Given the description of an element on the screen output the (x, y) to click on. 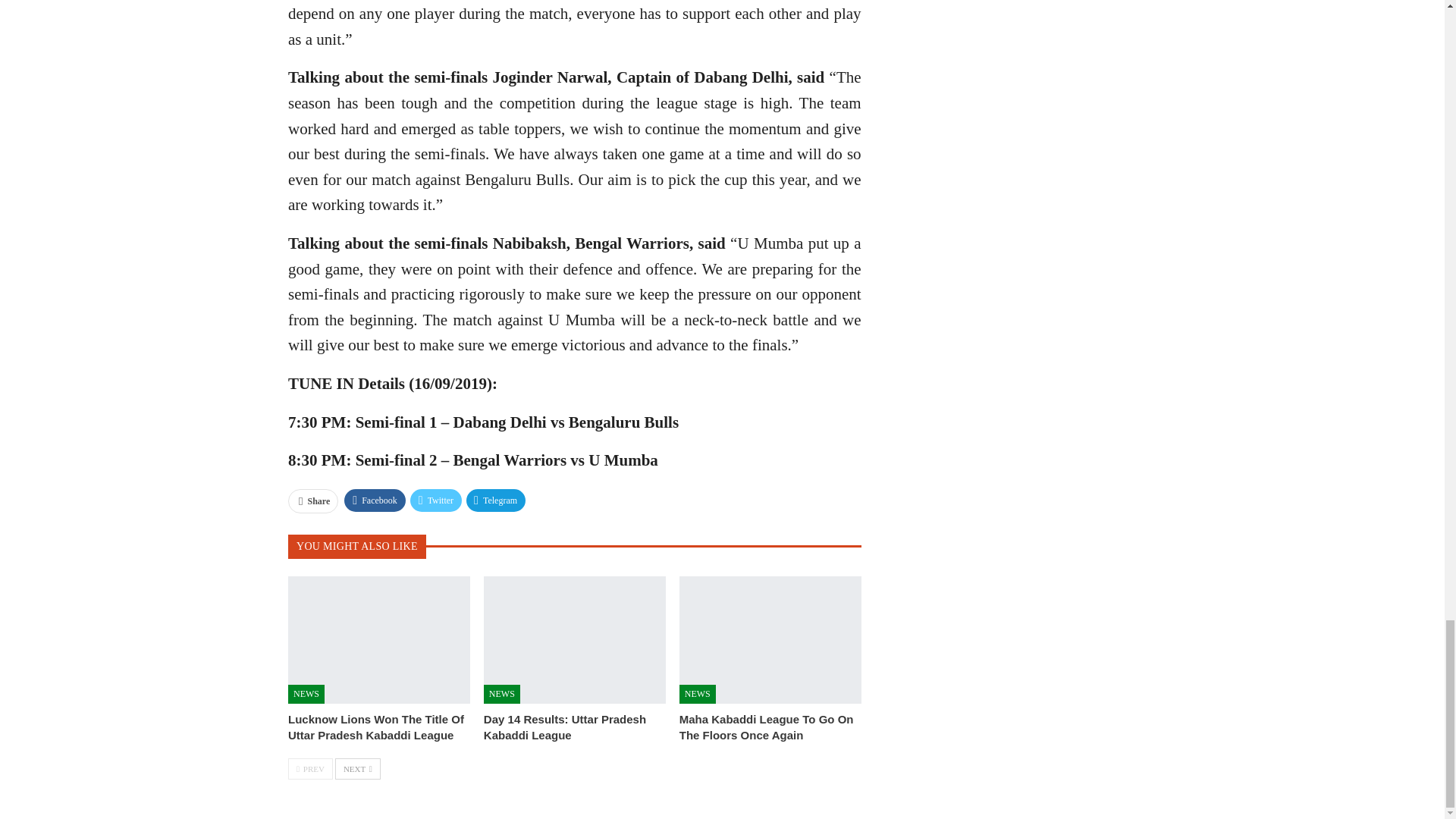
Maha Kabaddi League To Go On The Floors Once Again (766, 727)
Next (357, 768)
Maha Kabaddi League To Go On The Floors Once Again (770, 639)
Lucknow Lions Won The Title Of Uttar Pradesh Kabaddi League (376, 727)
Telegram (495, 499)
Lucknow Lions Won The Title Of Uttar Pradesh Kabaddi League (379, 639)
Day 14 Results: Uttar Pradesh Kabaddi League (574, 639)
Twitter (435, 499)
NEWS (501, 693)
Lucknow Lions Won The Title Of Uttar Pradesh Kabaddi League (376, 727)
Maha Kabaddi League To Go On The Floors Once Again (766, 727)
Previous (310, 768)
NEWS (306, 693)
NEWS (697, 693)
Facebook (374, 499)
